Given the description of an element on the screen output the (x, y) to click on. 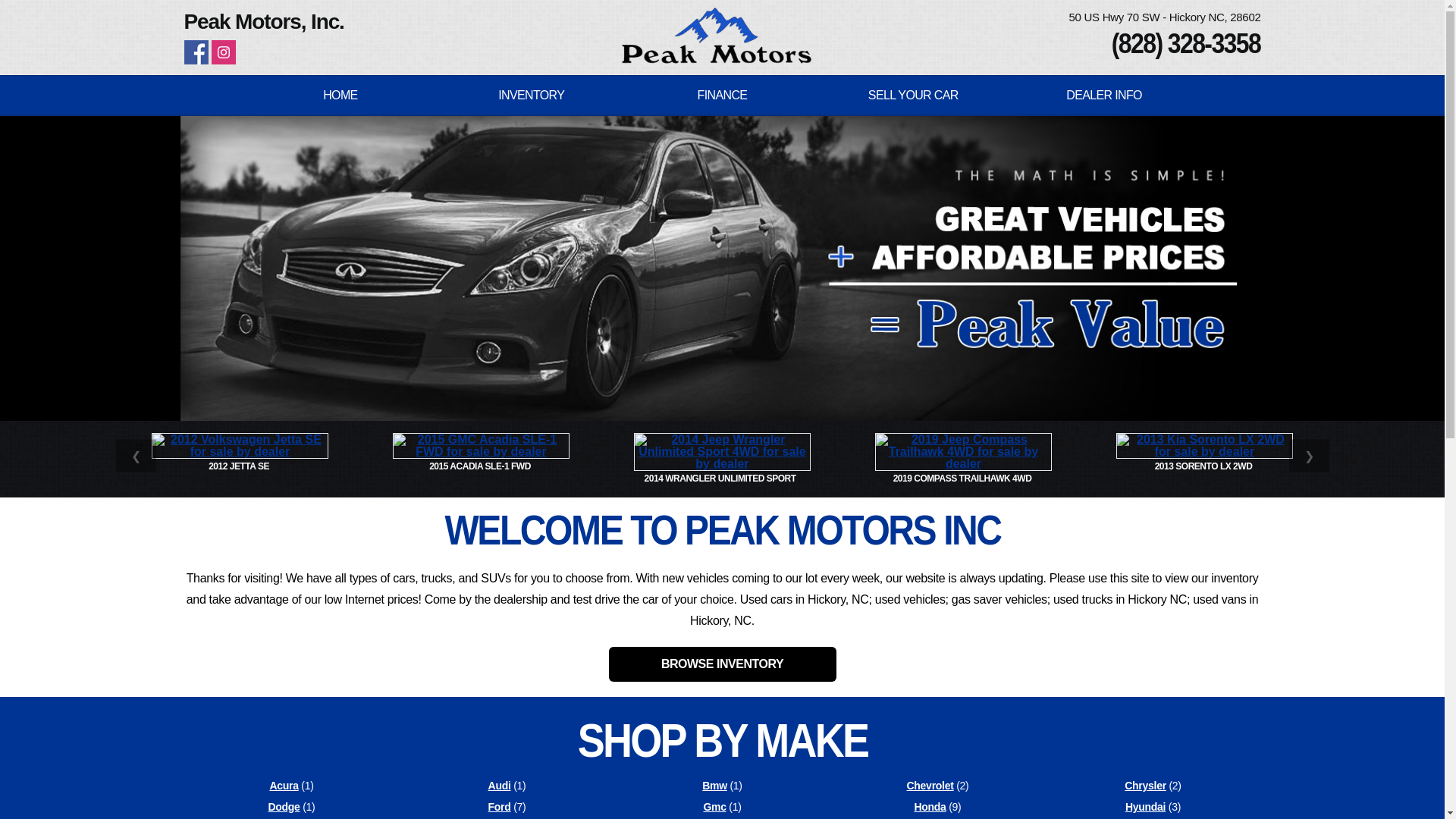
2014 Jeep Wrangler Unlimited Sport 4WD For Sale! (721, 452)
2014 WRANGLER UNLIMITED SPORT   (722, 478)
Like us on Facebook (195, 52)
2019 Jeep Compass Trailhawk 4WD For Sale! (962, 452)
2015 GMC Acadia SLE-1 FWD For Sale! (480, 445)
SELL YOUR CAR (912, 95)
Share Photos with us on Instagram (222, 52)
2013 Kia Sorento LX 2WD For Sale! (1203, 445)
2012 JETTA SE  (239, 466)
2019 COMPASS TRAILHAWK 4WD  (963, 478)
HOME (339, 95)
2015 ACADIA SLE-1 FWD  (480, 466)
INVENTORY (532, 95)
2013 SORENTO LX 2WD  (1204, 466)
FINANCE (722, 95)
